Given the description of an element on the screen output the (x, y) to click on. 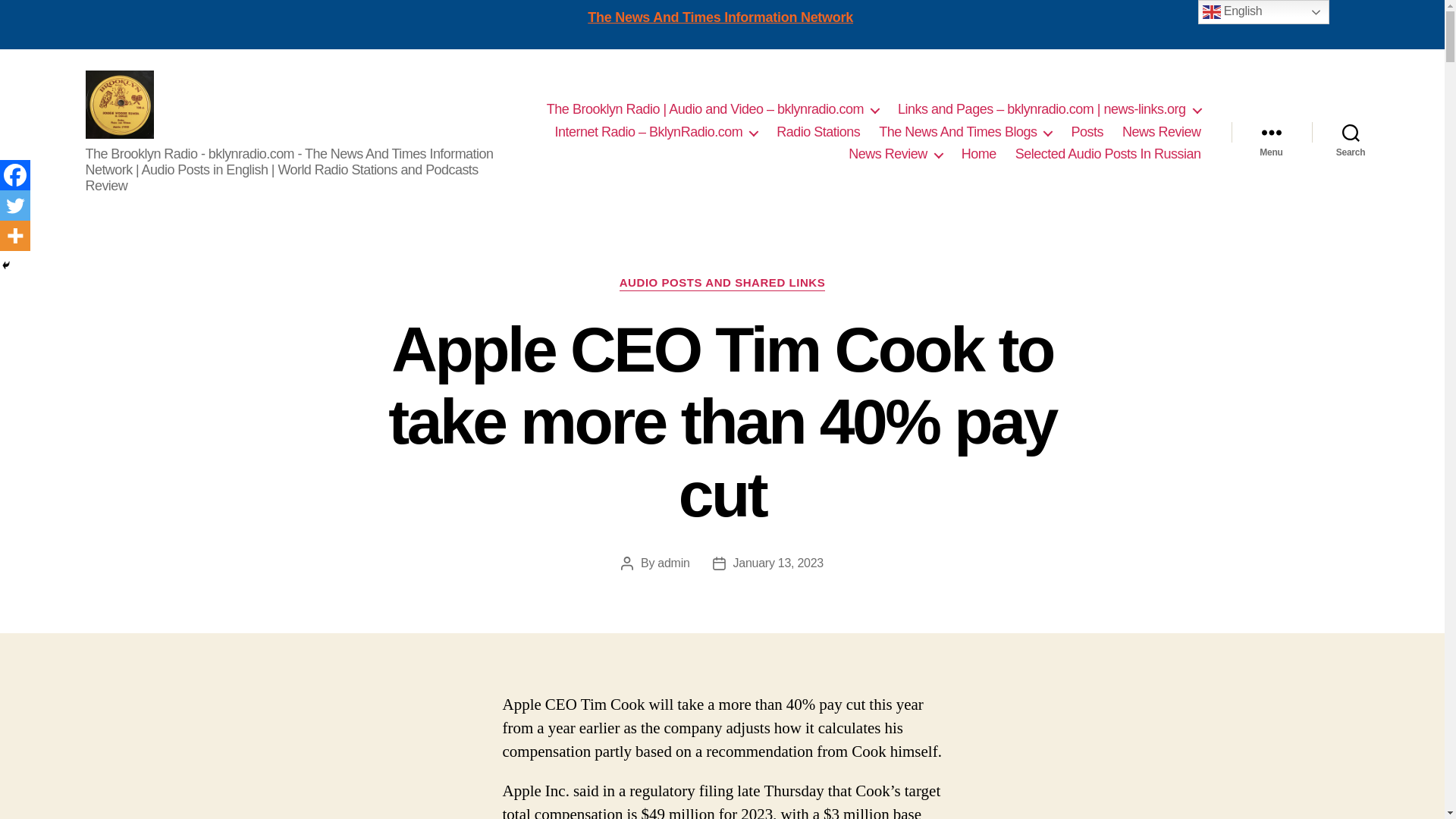
Posts (1086, 132)
More (15, 235)
Hide (5, 265)
Facebook (15, 174)
News Review (895, 154)
Radio Stations (818, 132)
Selected Audio Posts In Russian (1107, 154)
Home (977, 154)
Menu (1271, 131)
Twitter (15, 205)
